Given the description of an element on the screen output the (x, y) to click on. 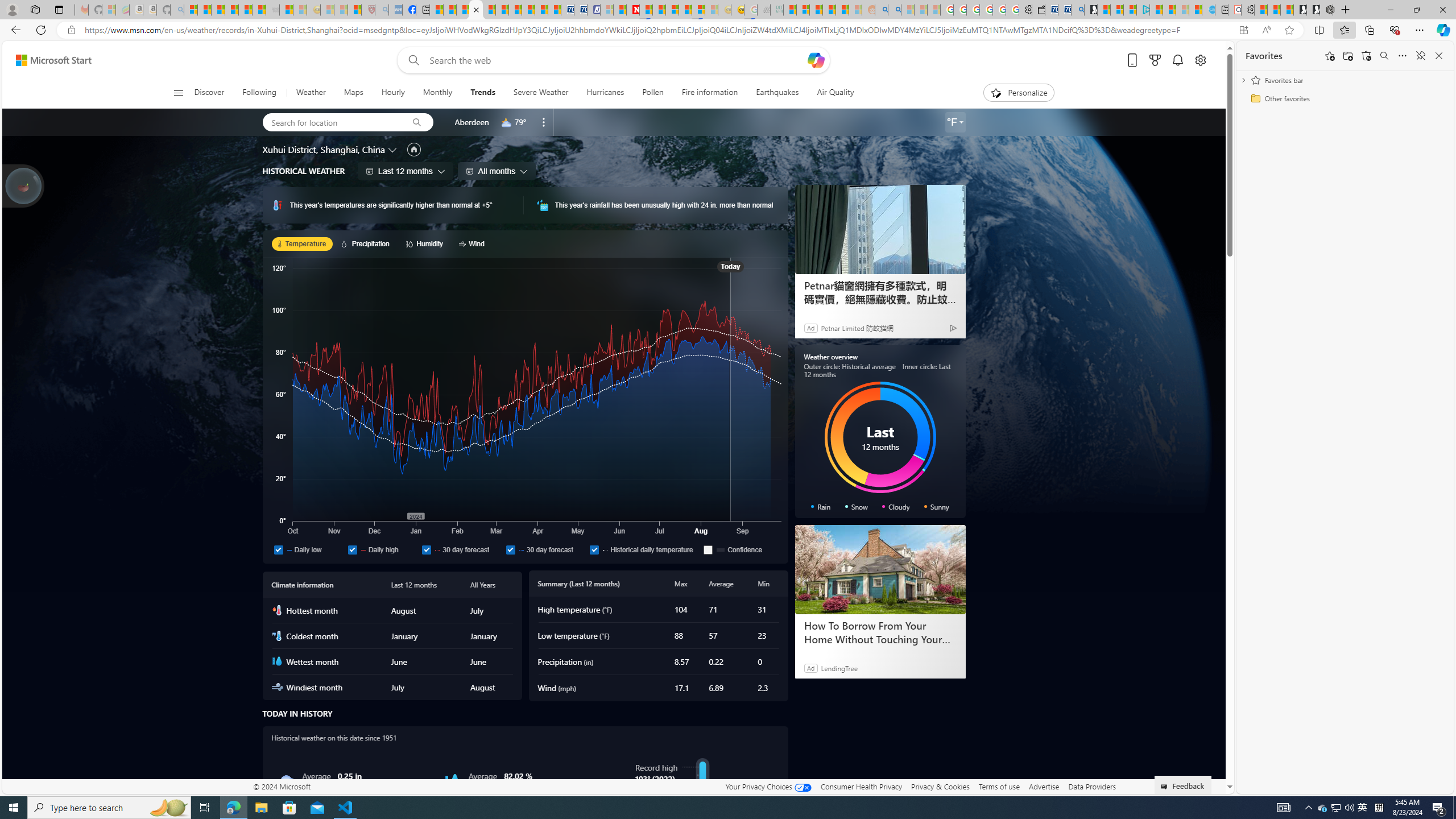
Daily low (308, 549)
Daily low (278, 549)
Precipitation (366, 243)
Data Providers (1091, 786)
